Given the description of an element on the screen output the (x, y) to click on. 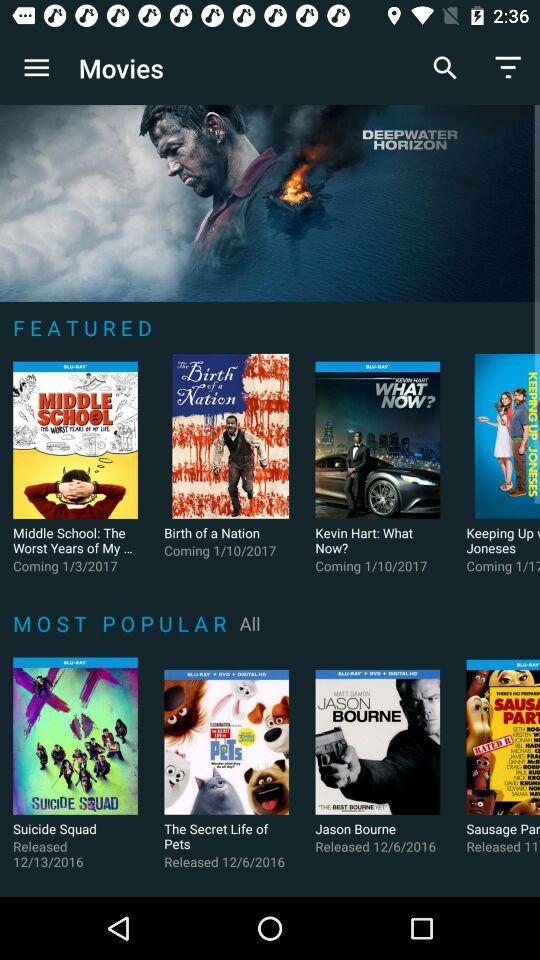
tap icon next to all (122, 623)
